Given the description of an element on the screen output the (x, y) to click on. 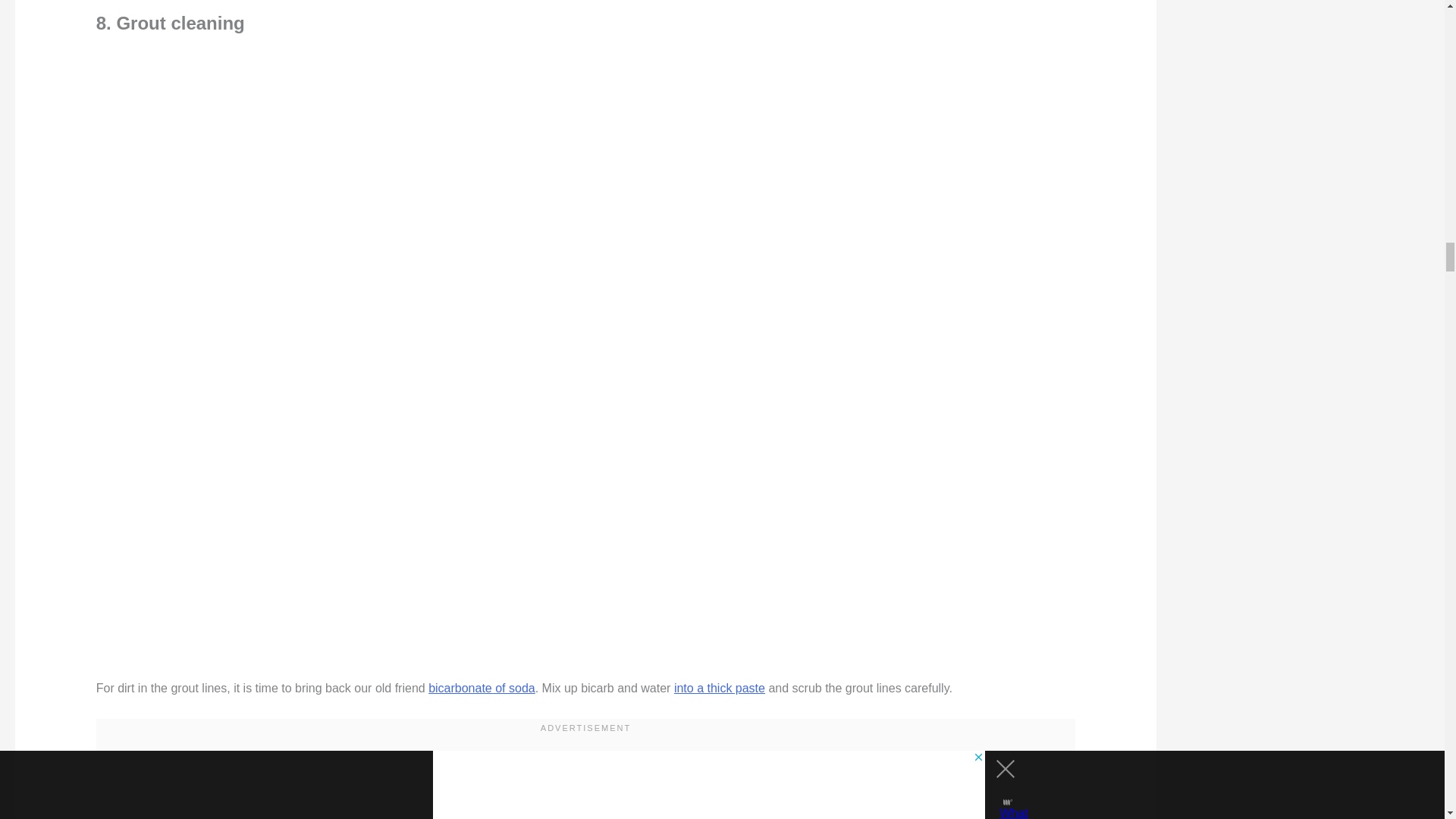
bicarbonate of soda (481, 687)
into a thick paste (719, 687)
